Given the description of an element on the screen output the (x, y) to click on. 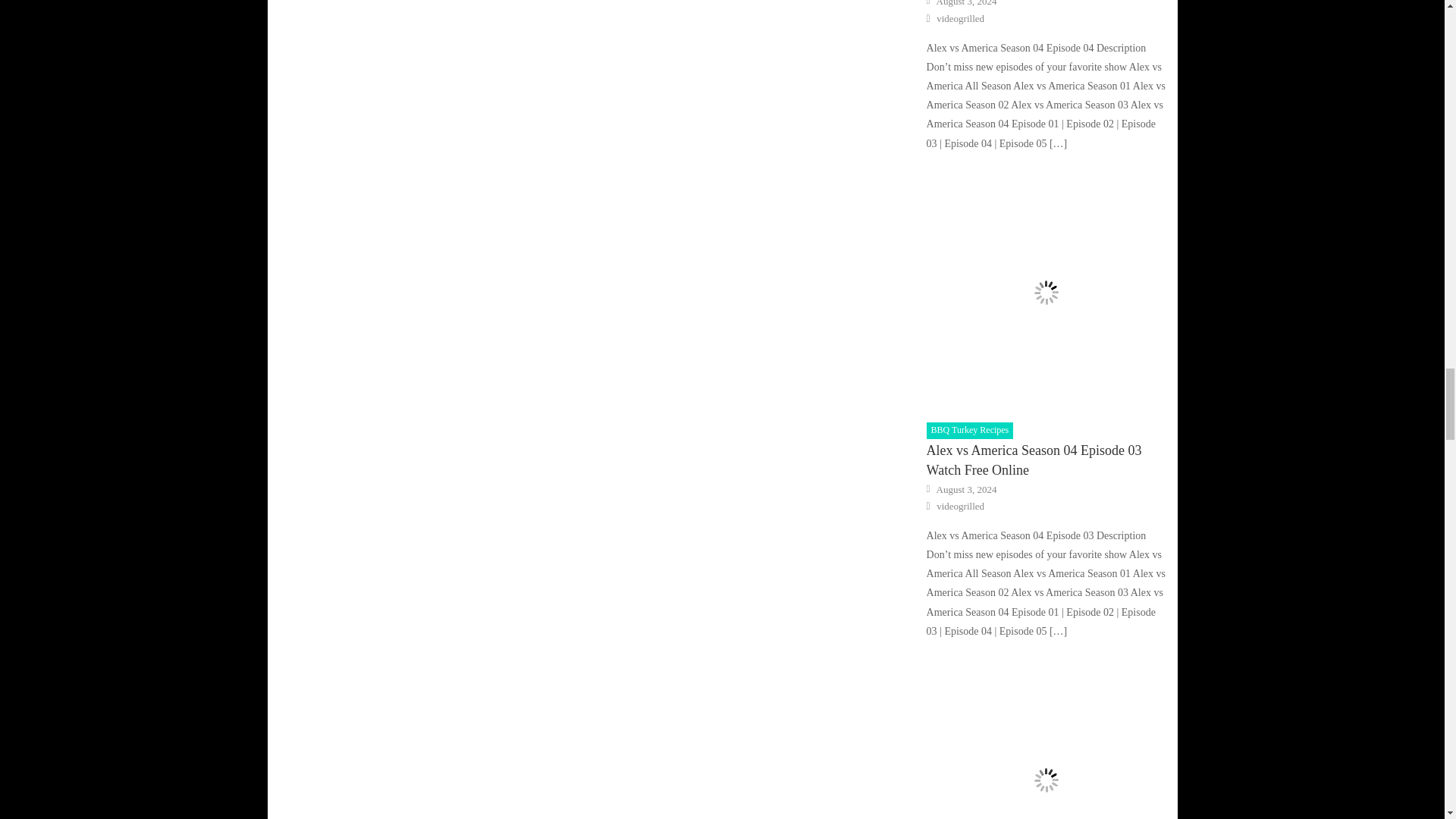
Alex vs America Season 04 Episode 02 Watch Free Online (1046, 739)
Alex vs America Season 04 Episode 03 Watch Free Online (1046, 292)
